Given the description of an element on the screen output the (x, y) to click on. 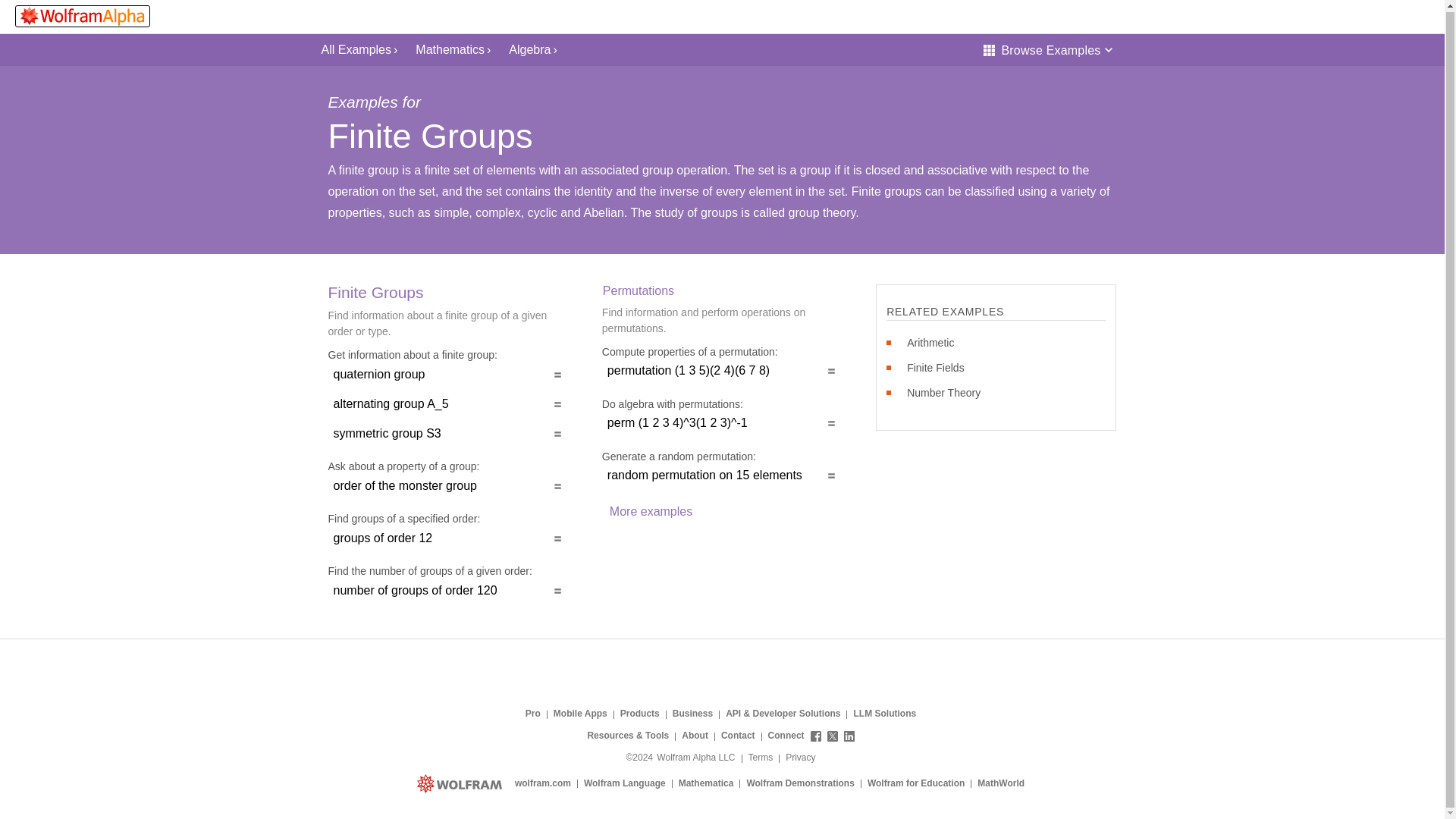
order of the monster group (447, 485)
Pro (532, 714)
quaternion group (447, 373)
Finite Fields (935, 367)
Privacy (800, 758)
Products (639, 714)
Number Theory (943, 392)
symmetric group S3 (447, 433)
Connect (811, 736)
Business (692, 714)
